Given the description of an element on the screen output the (x, y) to click on. 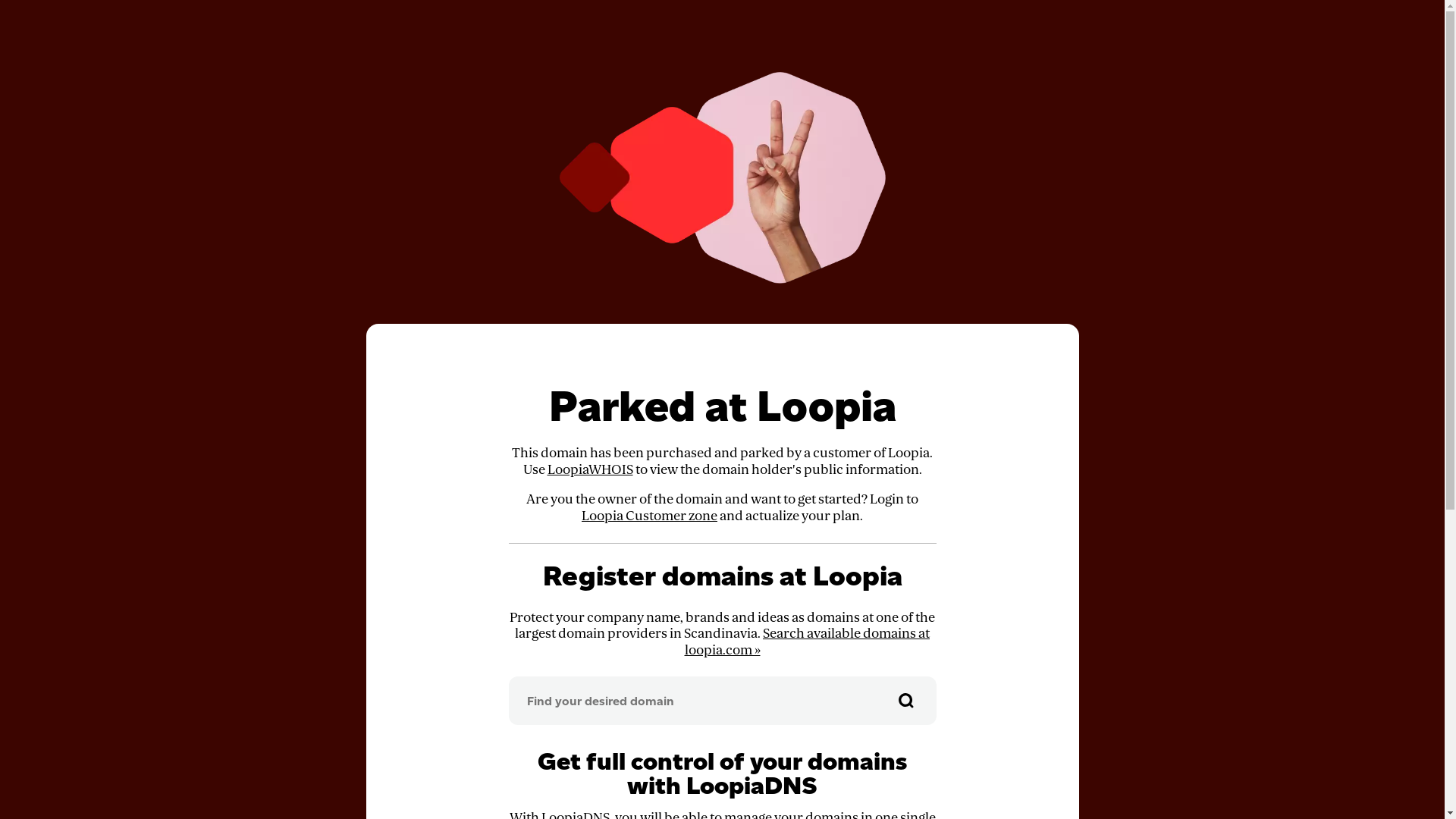
LoopiaWHOIS Element type: text (590, 469)
Loopia Customer zone Element type: text (649, 516)
